Given the description of an element on the screen output the (x, y) to click on. 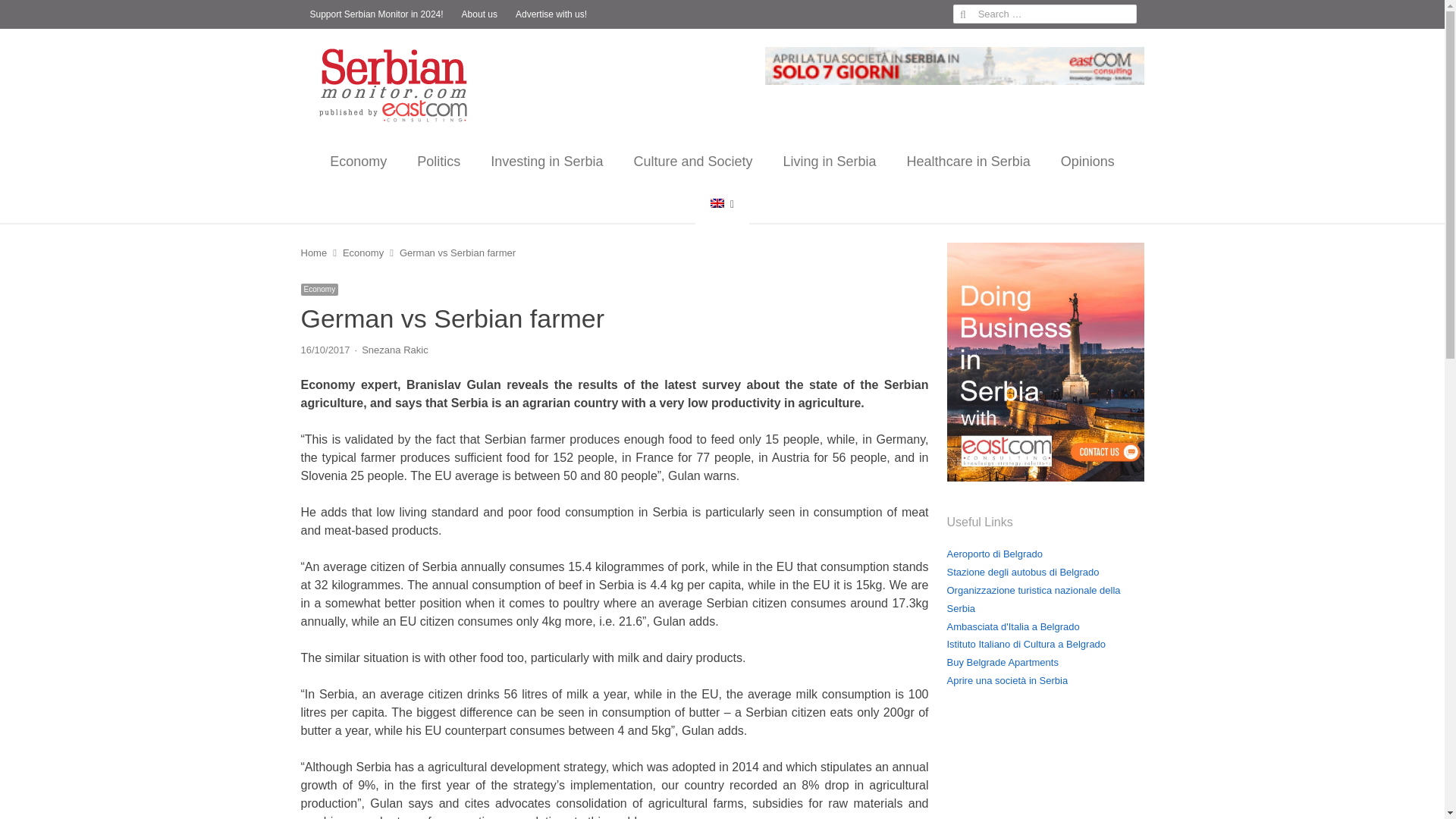
Buy Belgrade Apartments (1002, 662)
Ambasciata d'Italia a Belgrado (1012, 625)
Aeroporto di Belgrado (994, 553)
Home (312, 252)
Support Serbian Monitor in 2024! (375, 13)
Aeroporto di Belgrado (994, 553)
Search (27, 13)
Ambasciata d''Italia a Belgrado (1012, 625)
Organizzazione turistica nazionale della Serbia (1032, 599)
Snezana Rakic (394, 349)
